Given the description of an element on the screen output the (x, y) to click on. 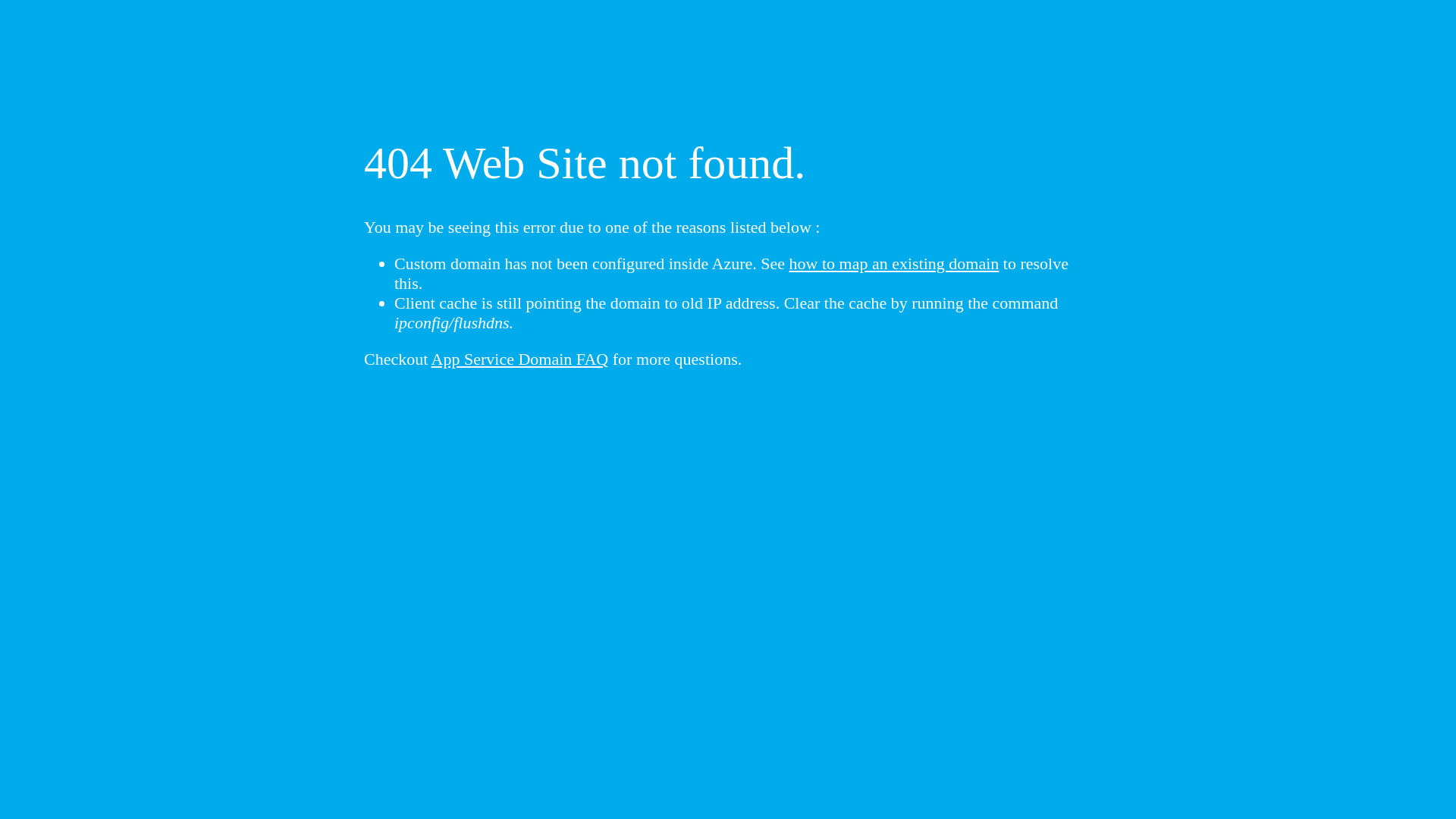
App Service Domain FAQ Element type: text (519, 358)
how to map an existing domain Element type: text (894, 263)
